Given the description of an element on the screen output the (x, y) to click on. 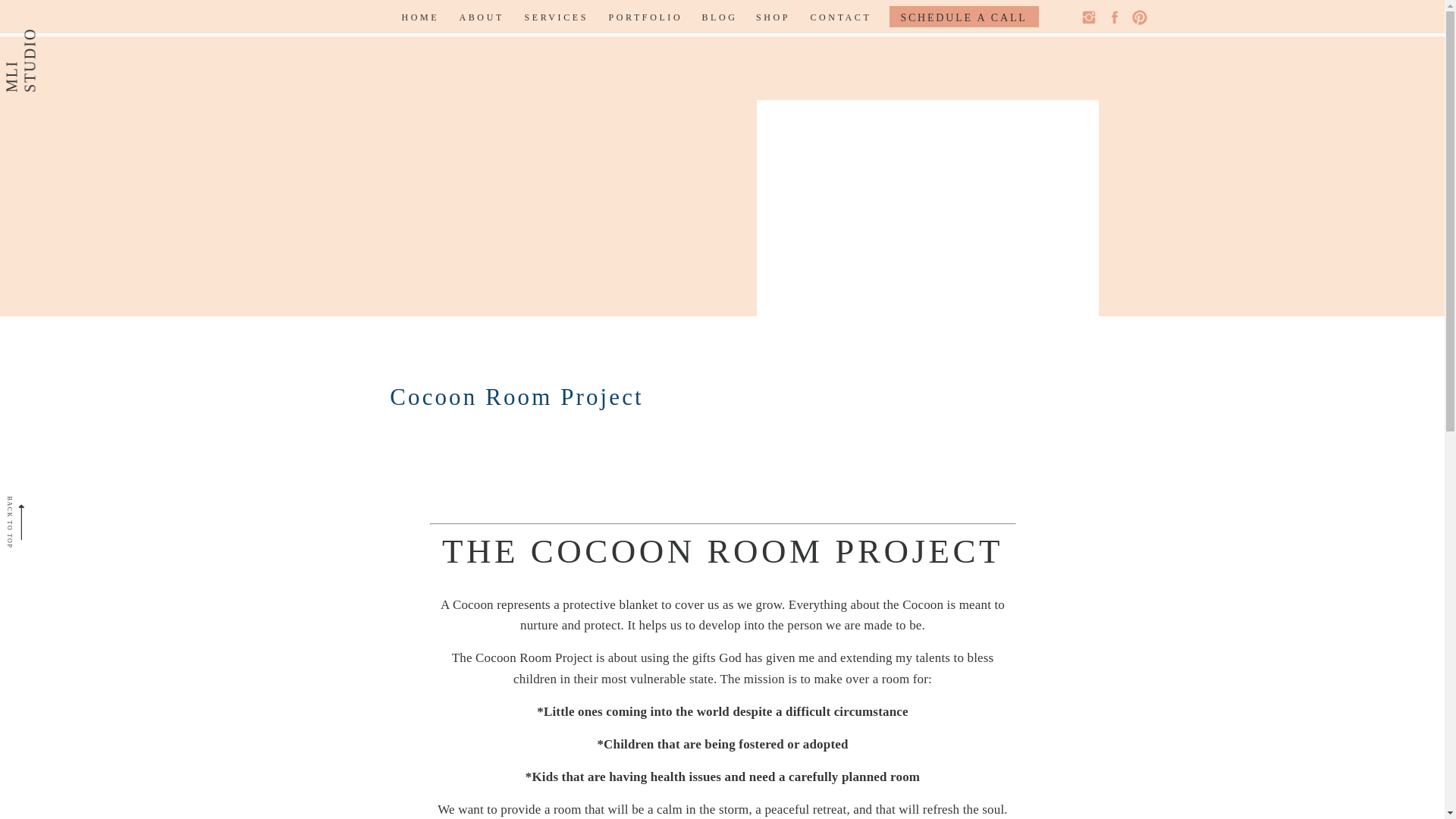
Cocoon Room Project (927, 277)
PORTFOLIO (643, 16)
SERVICES (555, 16)
MLI STUDIO (52, 6)
CONTACT (839, 16)
ABOUT (481, 16)
SCHEDULE A CALL (963, 16)
BLOG (717, 16)
HOME (419, 16)
SHOP (772, 16)
